Given the description of an element on the screen output the (x, y) to click on. 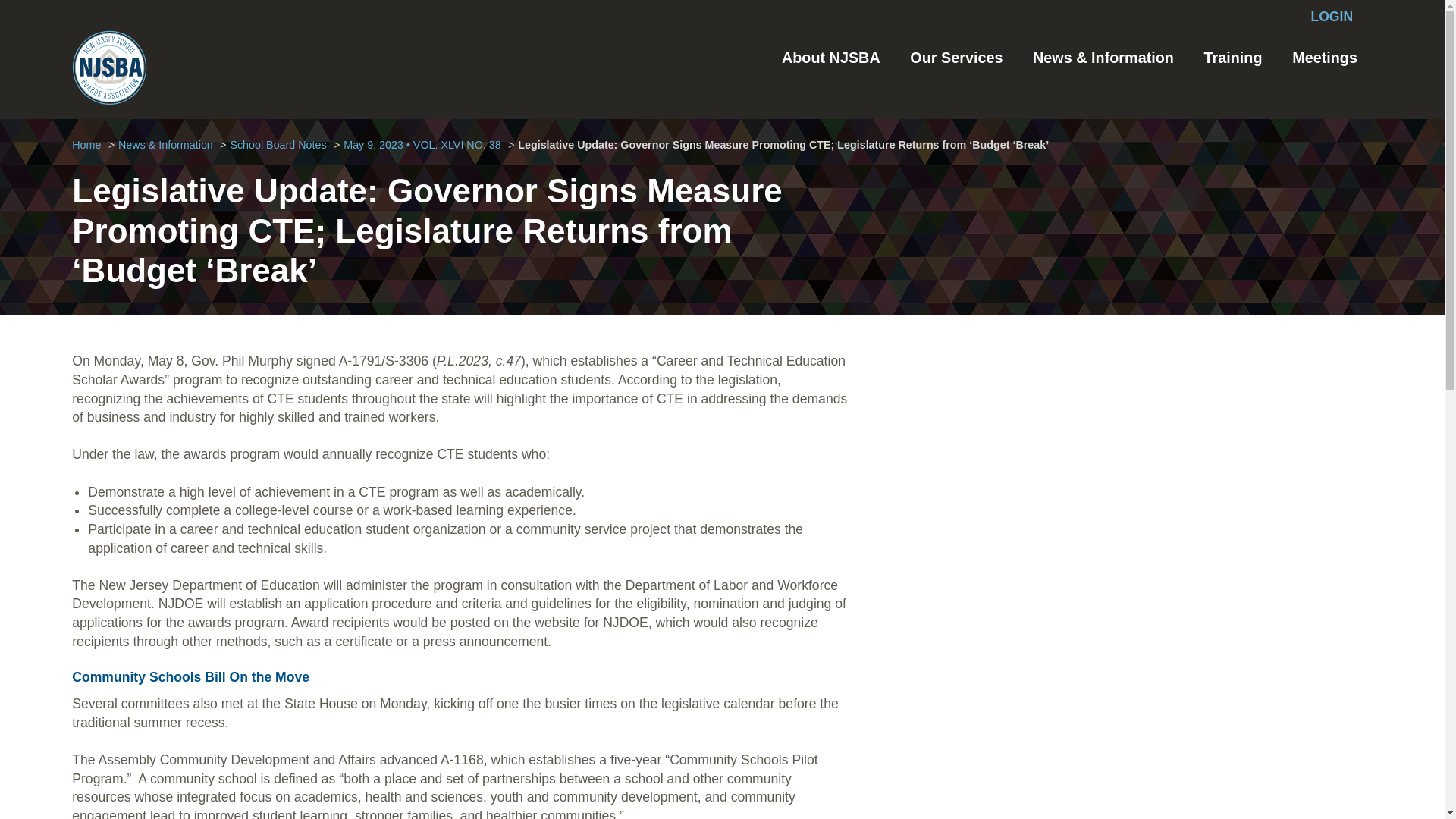
About NJSBA (831, 57)
LOGIN (1331, 17)
Our Services (956, 57)
